Given the description of an element on the screen output the (x, y) to click on. 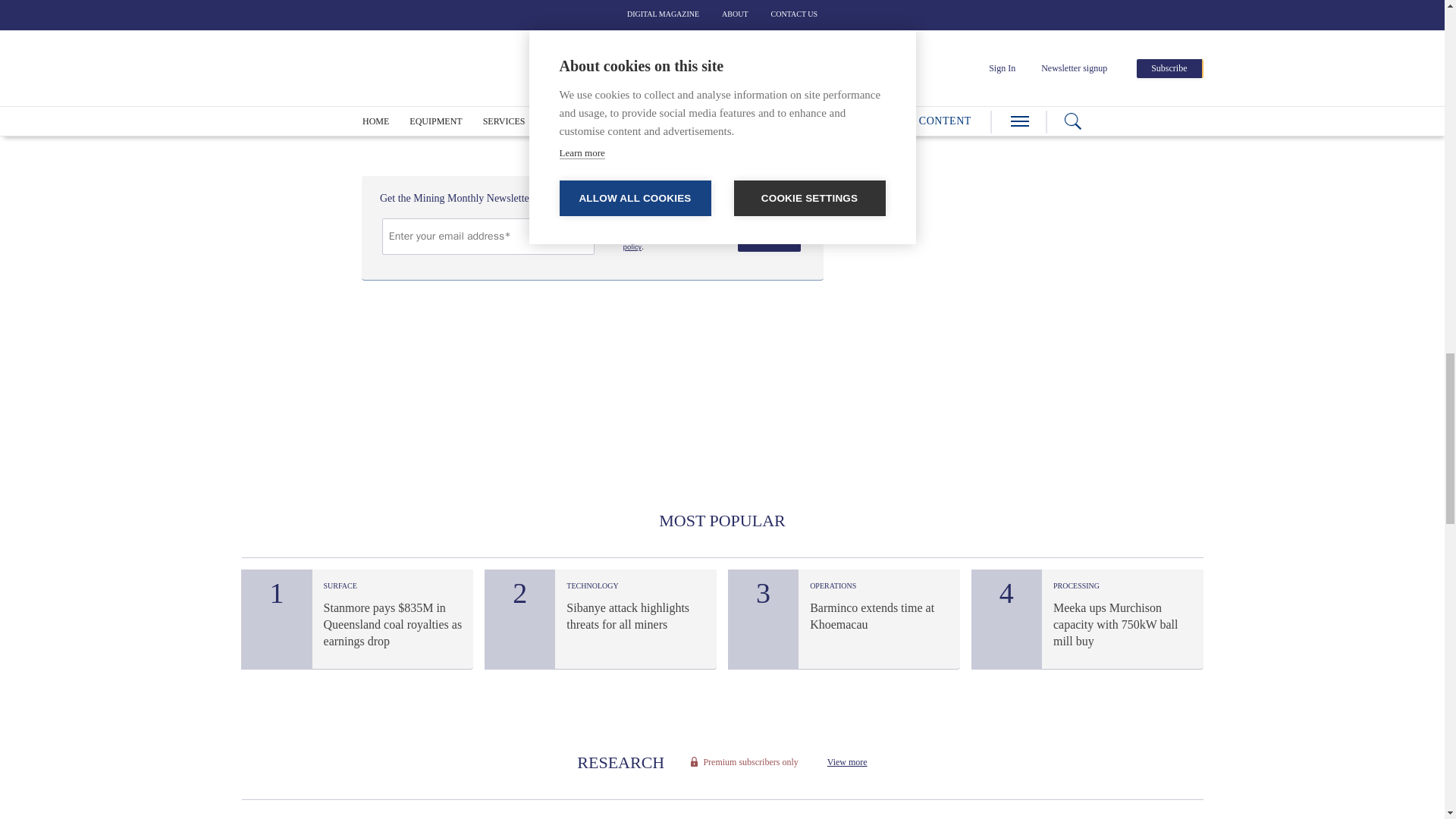
Submit (769, 234)
true (608, 227)
